Given the description of an element on the screen output the (x, y) to click on. 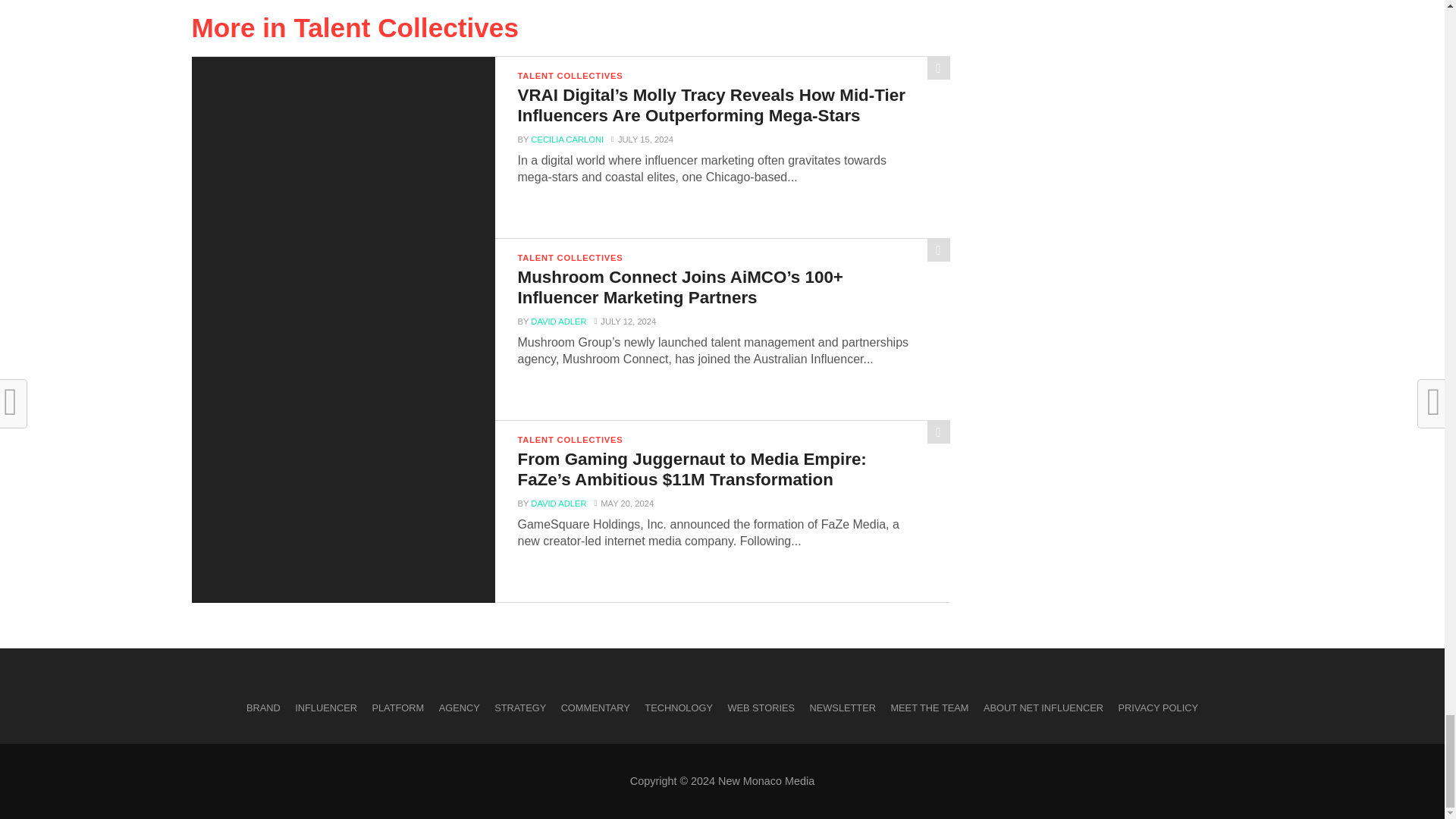
Posts by David Adler (558, 502)
Posts by David Adler (558, 320)
Posts by Cecilia Carloni (567, 139)
